Given the description of an element on the screen output the (x, y) to click on. 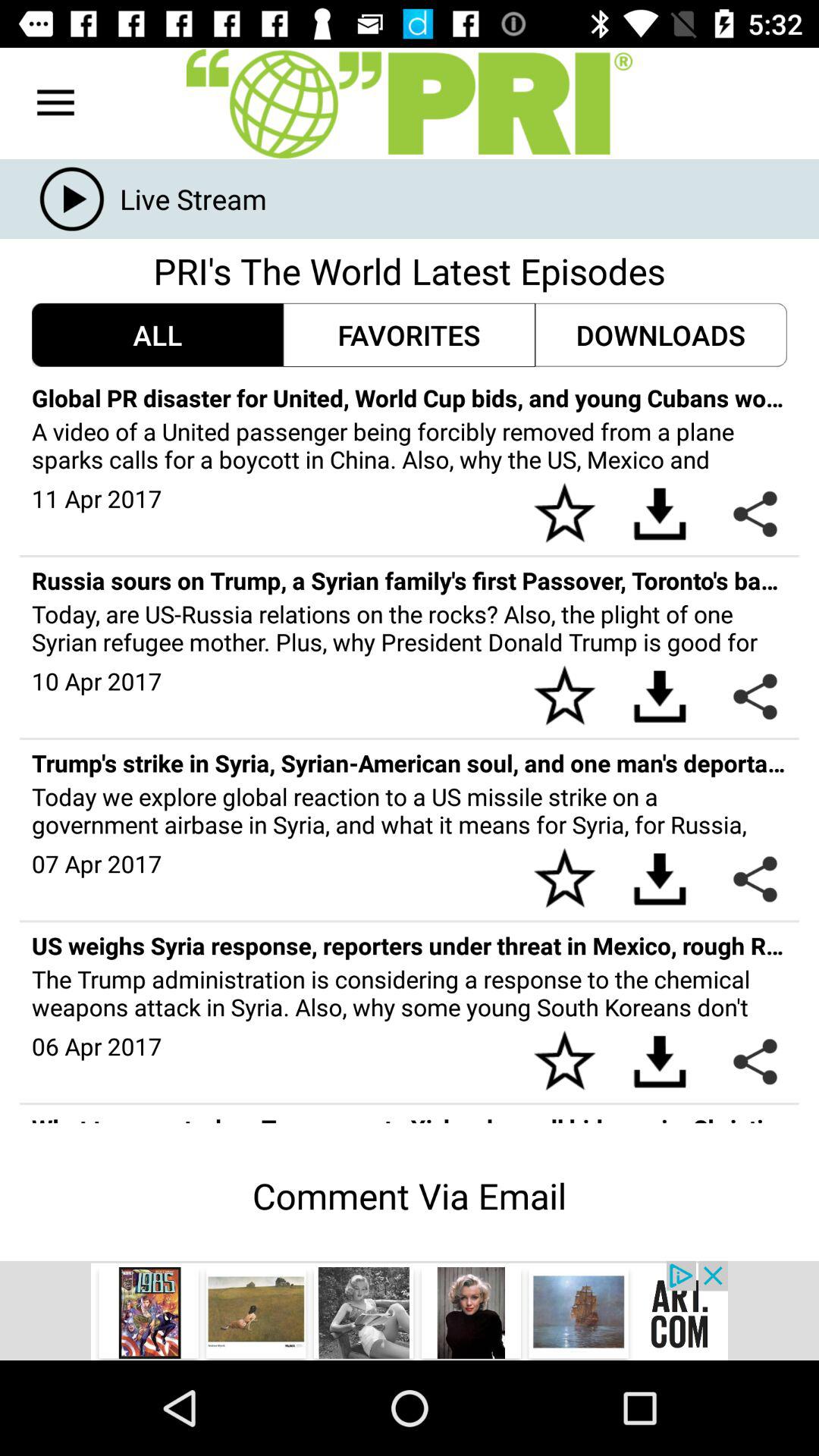
settings (409, 103)
